Given the description of an element on the screen output the (x, y) to click on. 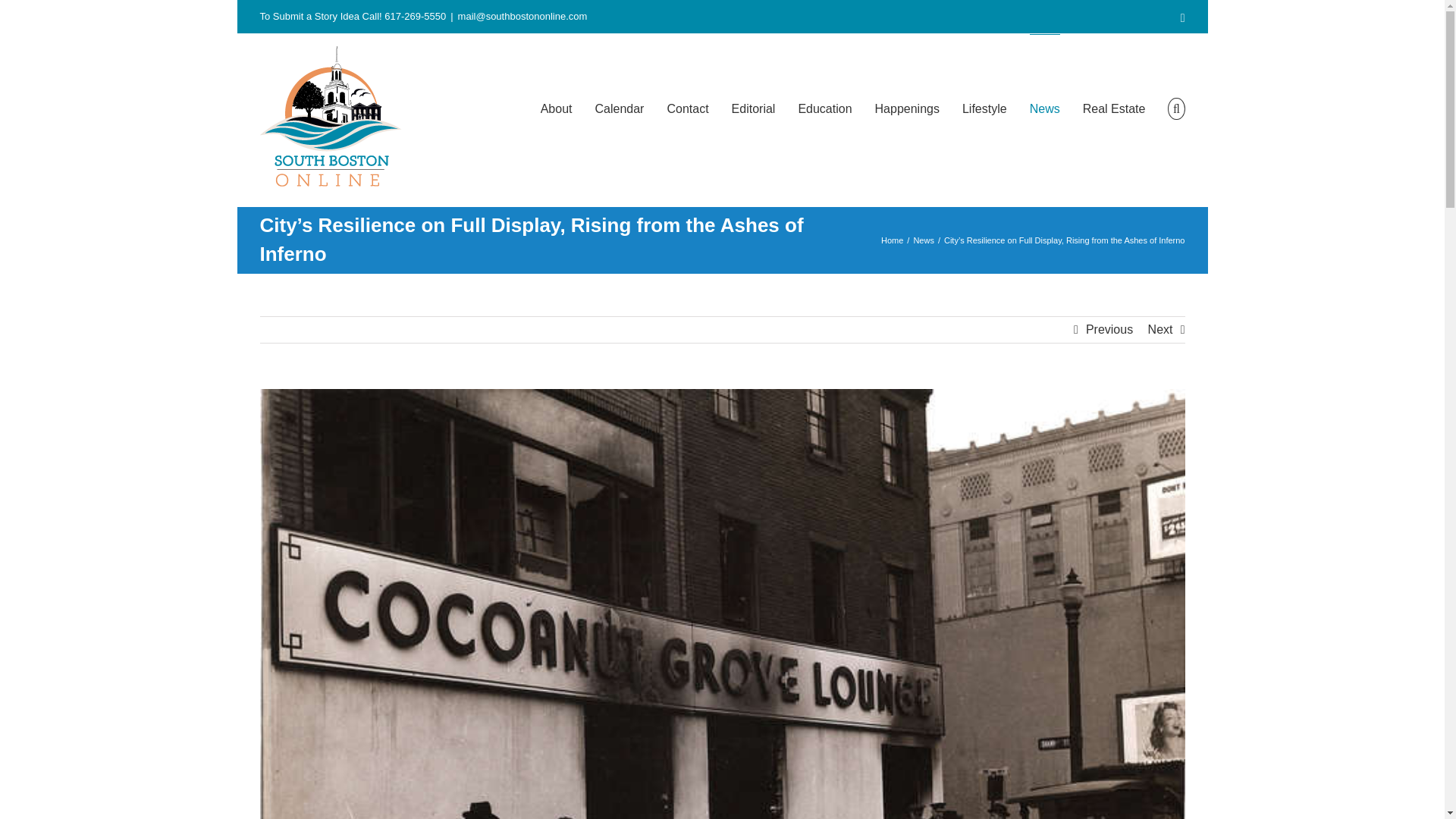
Calendar (618, 108)
Search (1176, 108)
Happenings (907, 108)
Education (824, 108)
About (556, 108)
Next (1160, 329)
Home (891, 239)
News (1044, 108)
Facebook (1182, 18)
Previous (1109, 329)
Lifestyle (984, 108)
Facebook (1182, 18)
Editorial (754, 108)
News (923, 239)
